Given the description of an element on the screen output the (x, y) to click on. 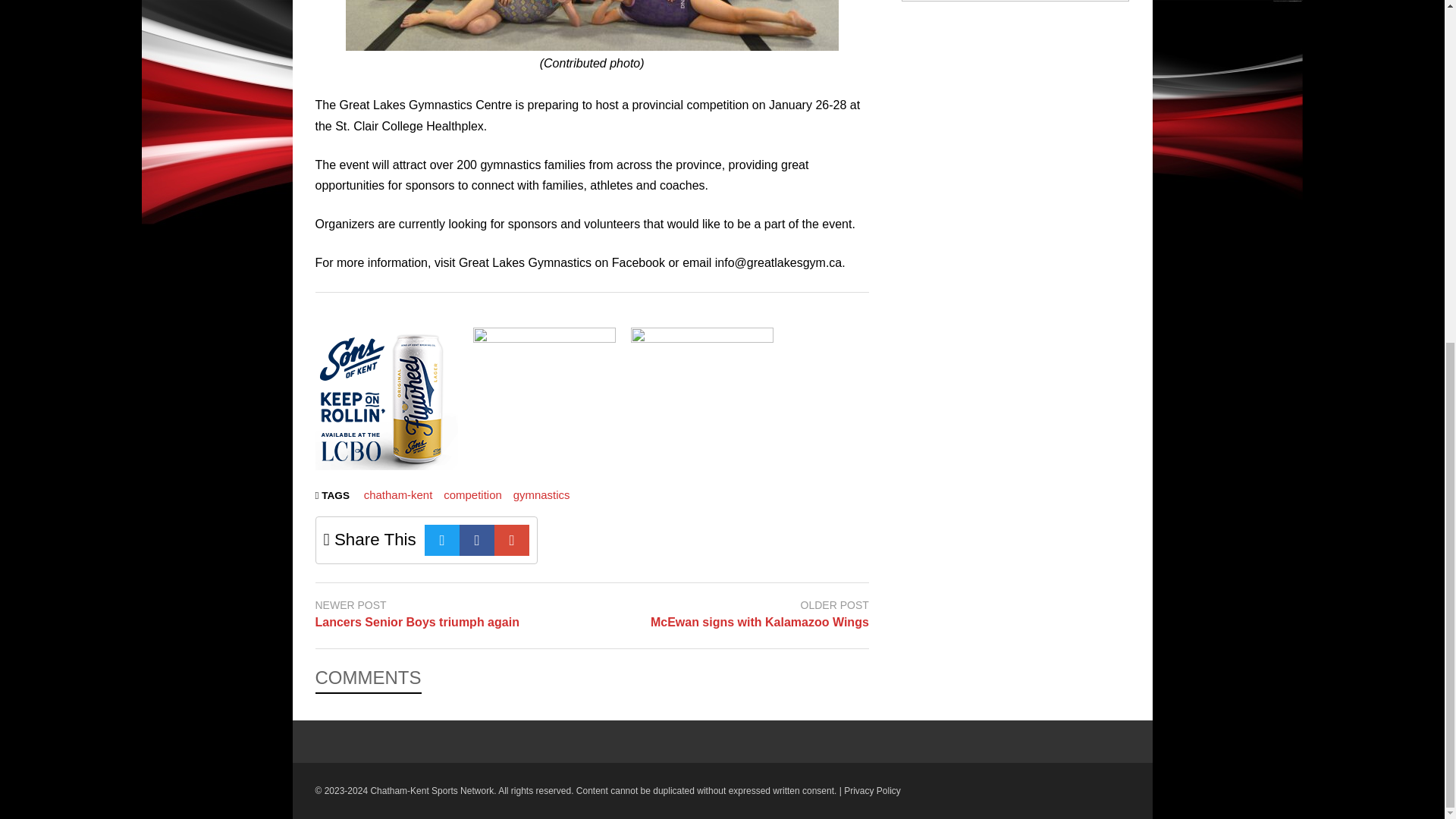
E-mail (512, 540)
Twitter (442, 540)
Facebook (477, 540)
